Given the description of an element on the screen output the (x, y) to click on. 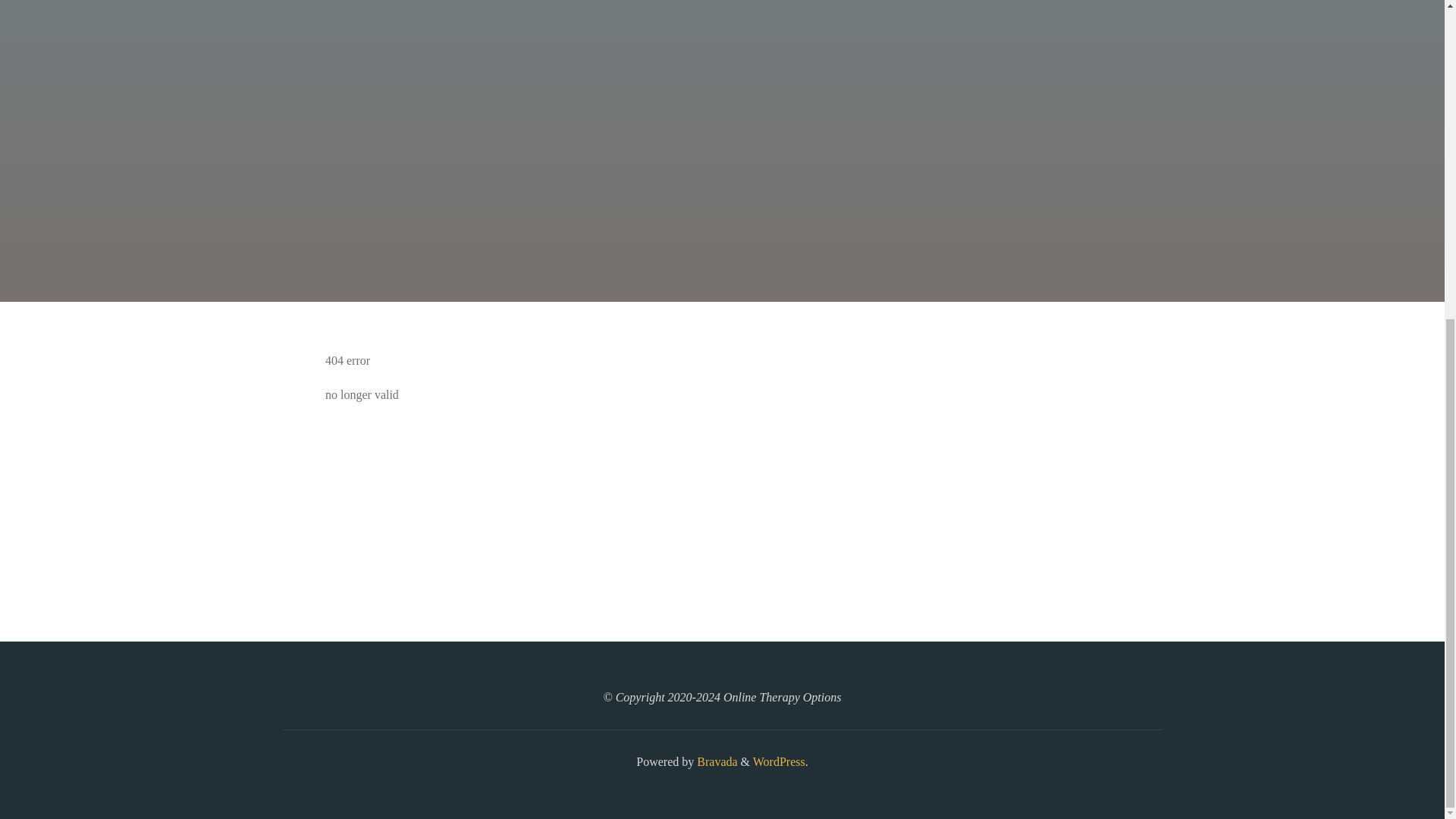
Bravada (715, 761)
Bravada WordPress Theme by Cryout Creations (715, 761)
Semantic Personal Publishing Platform (778, 761)
WordPress (778, 761)
Read more (721, 207)
